Given the description of an element on the screen output the (x, y) to click on. 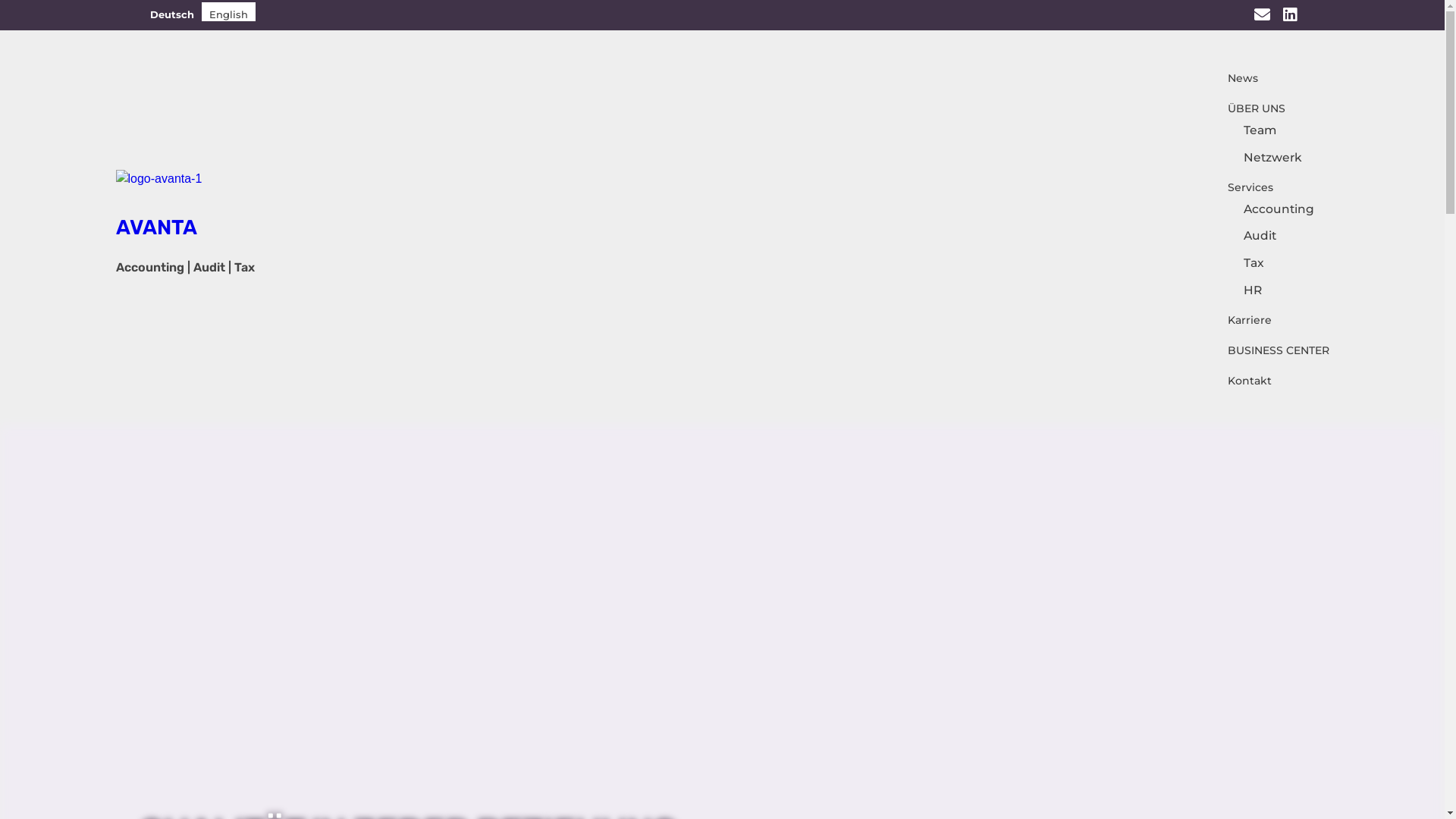
AVANTA Element type: text (155, 227)
Team Element type: text (1259, 129)
Tax Element type: text (1253, 262)
Accounting Element type: text (1278, 208)
BUSINESS CENTER Element type: text (1268, 350)
News Element type: text (1233, 77)
English Element type: text (228, 11)
Services Element type: text (1240, 187)
AVANTA Element type: hover (228, 187)
Karriere Element type: text (1239, 319)
HR Element type: text (1252, 289)
Deutsch Element type: text (171, 11)
Netzwerk Element type: text (1272, 157)
Kontakt Element type: text (1239, 380)
Audit Element type: text (1259, 235)
